Given the description of an element on the screen output the (x, y) to click on. 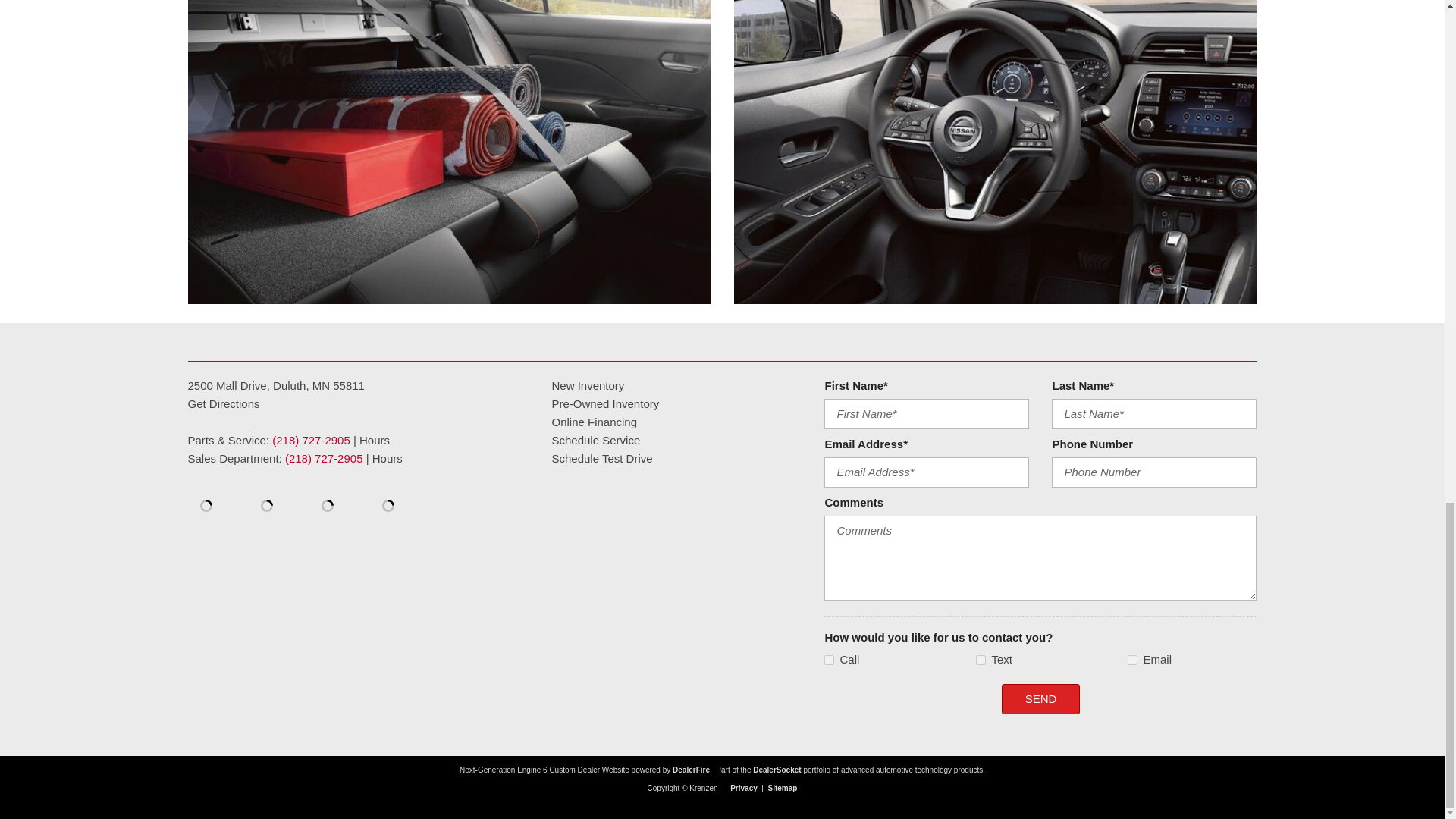
Call (829, 660)
Text (980, 660)
Email (1131, 660)
